Given the description of an element on the screen output the (x, y) to click on. 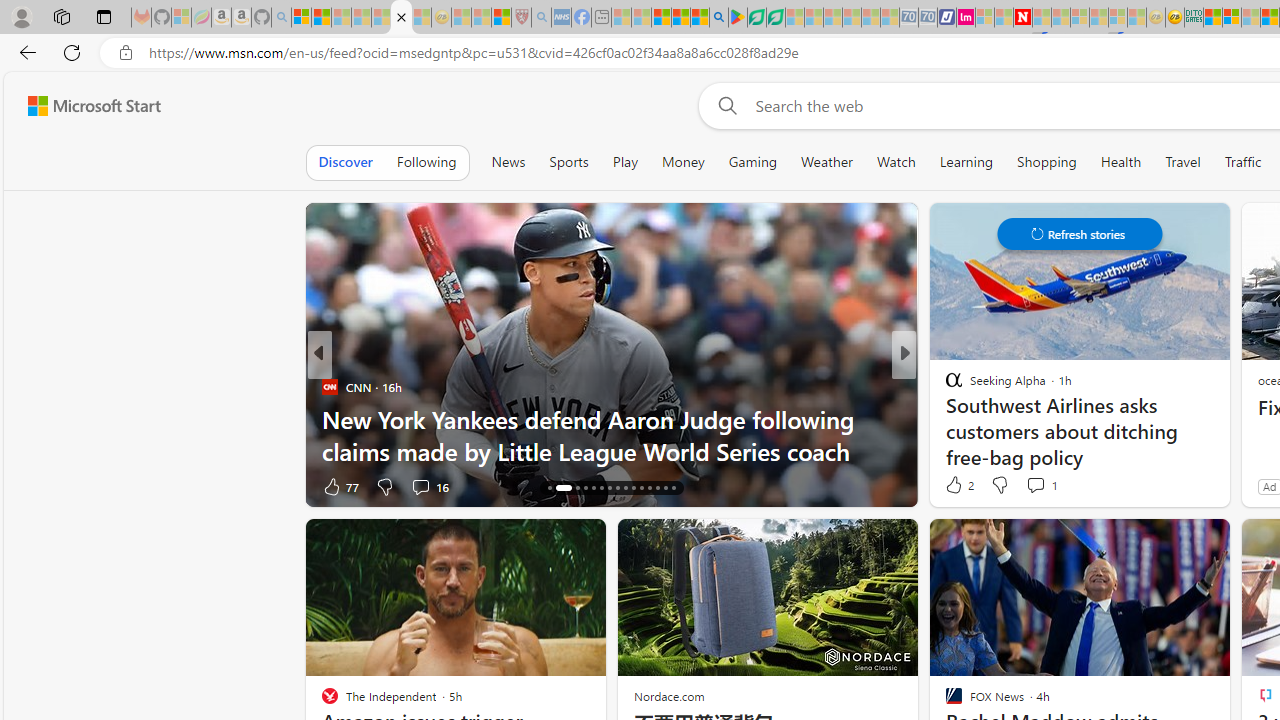
View comments 20 Comment (1042, 485)
AutomationID: tab-23 (617, 487)
View comments 9 Comment (1041, 486)
AutomationID: tab-17 (556, 487)
125 Like (959, 486)
